Given the description of an element on the screen output the (x, y) to click on. 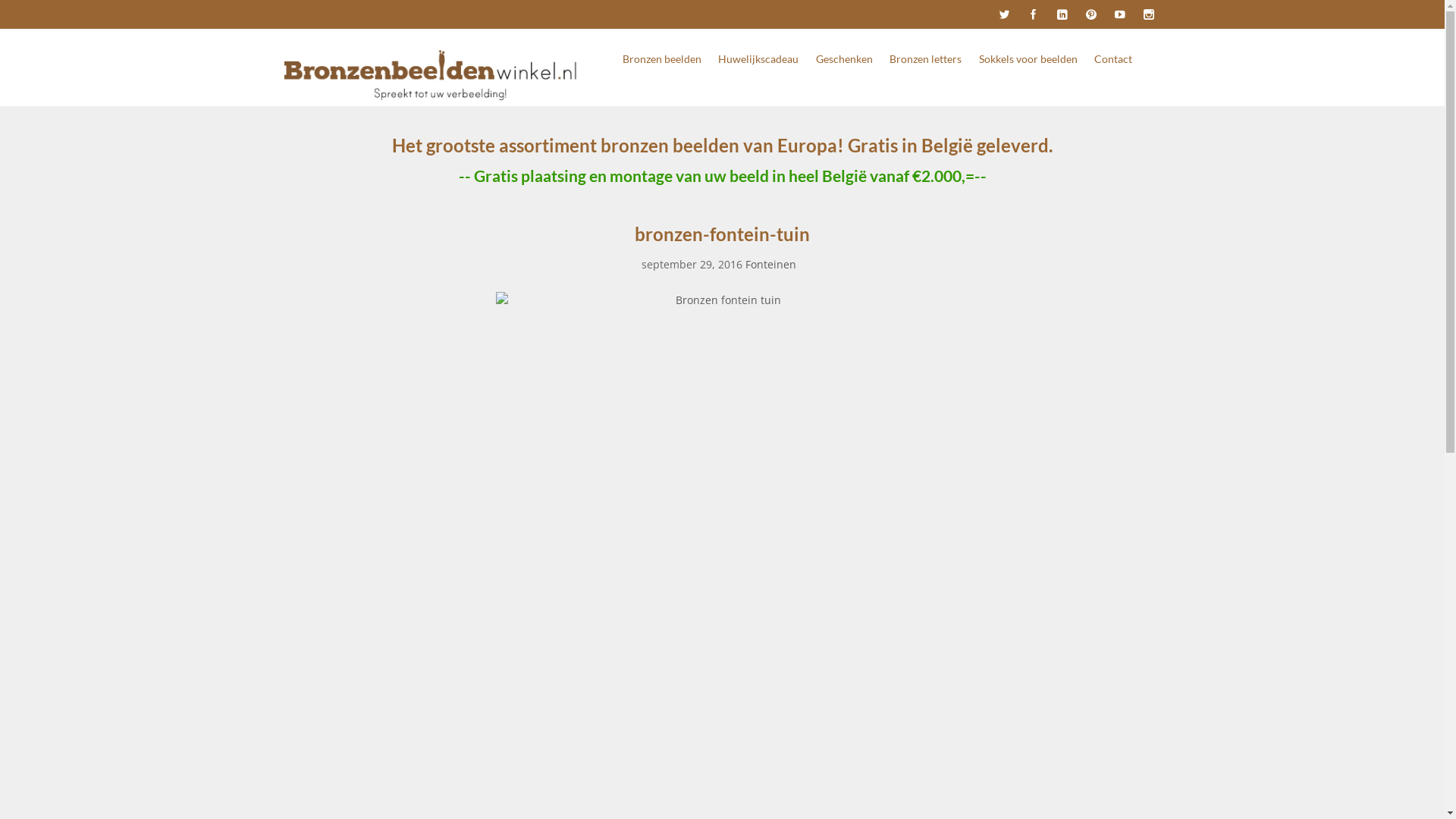
Huwelijkscadeau Element type: text (757, 58)
Bronzen letters Element type: text (925, 58)
Fonteinen Element type: text (769, 264)
Sokkels voor beelden Element type: text (1027, 58)
Linkedin Element type: hover (1061, 15)
Contact Element type: text (1112, 58)
Youtube Element type: hover (1119, 15)
Pinterest Element type: hover (1090, 15)
Instagram Element type: hover (1147, 15)
Bronzen beelden Element type: text (661, 58)
Facebook Element type: hover (1032, 15)
Geschenken Element type: text (844, 58)
 Twitter  Element type: hover (1003, 15)
Bronzenbeeldenwinkel Element type: hover (431, 73)
